Given the description of an element on the screen output the (x, y) to click on. 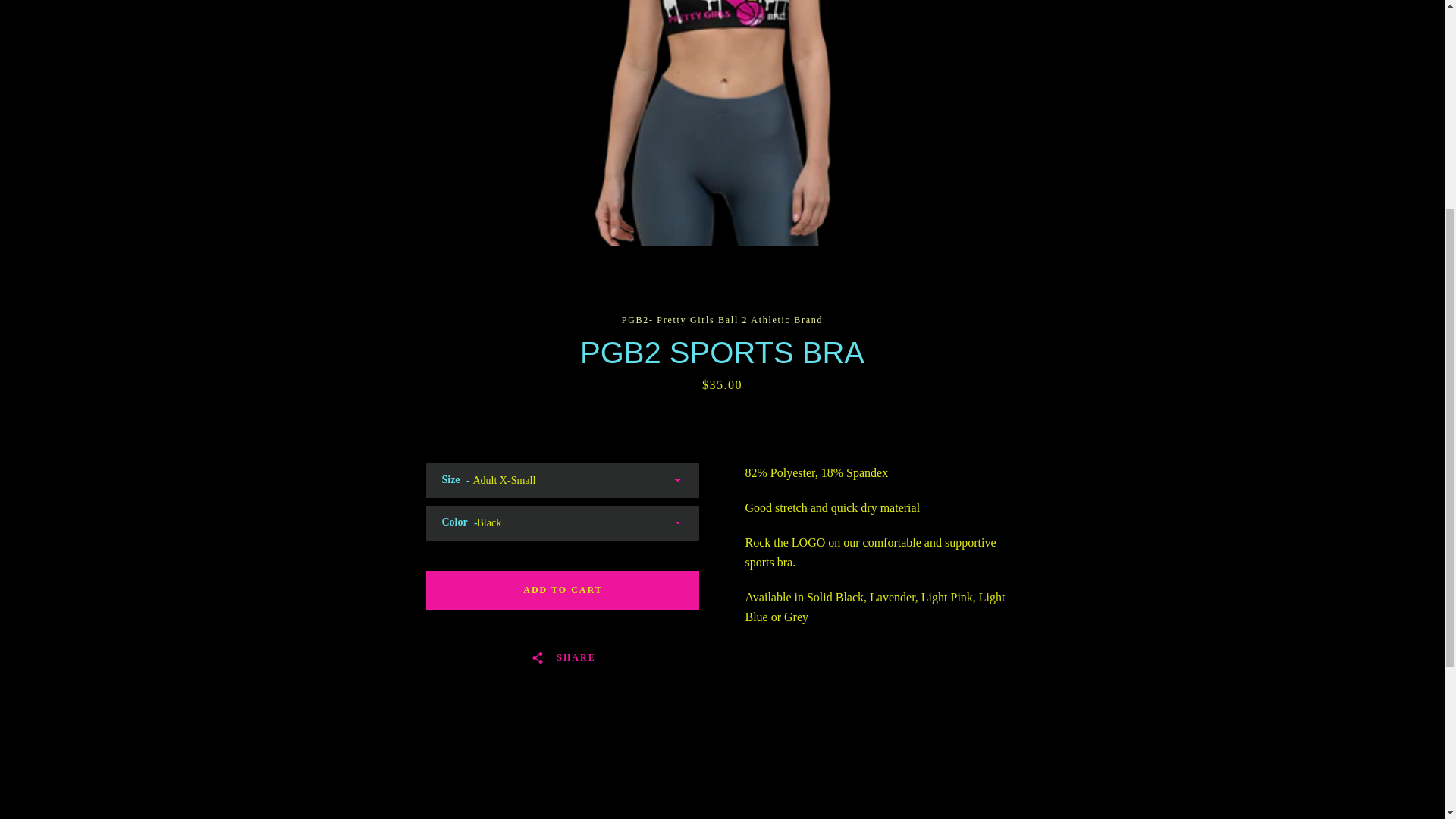
PGB2- Pretty Girls Ball 2 Athletic Brand (747, 413)
Meta Pay (1022, 402)
Google Pay (1057, 402)
CONTACT US (405, 278)
Facebook (372, 411)
ADD TO CART (562, 589)
PGB2- Pretty Girls Ball 2 Athletic Brand on Facebook (372, 411)
Diners Club (953, 402)
Instagram (398, 411)
Discover (988, 402)
